Given the description of an element on the screen output the (x, y) to click on. 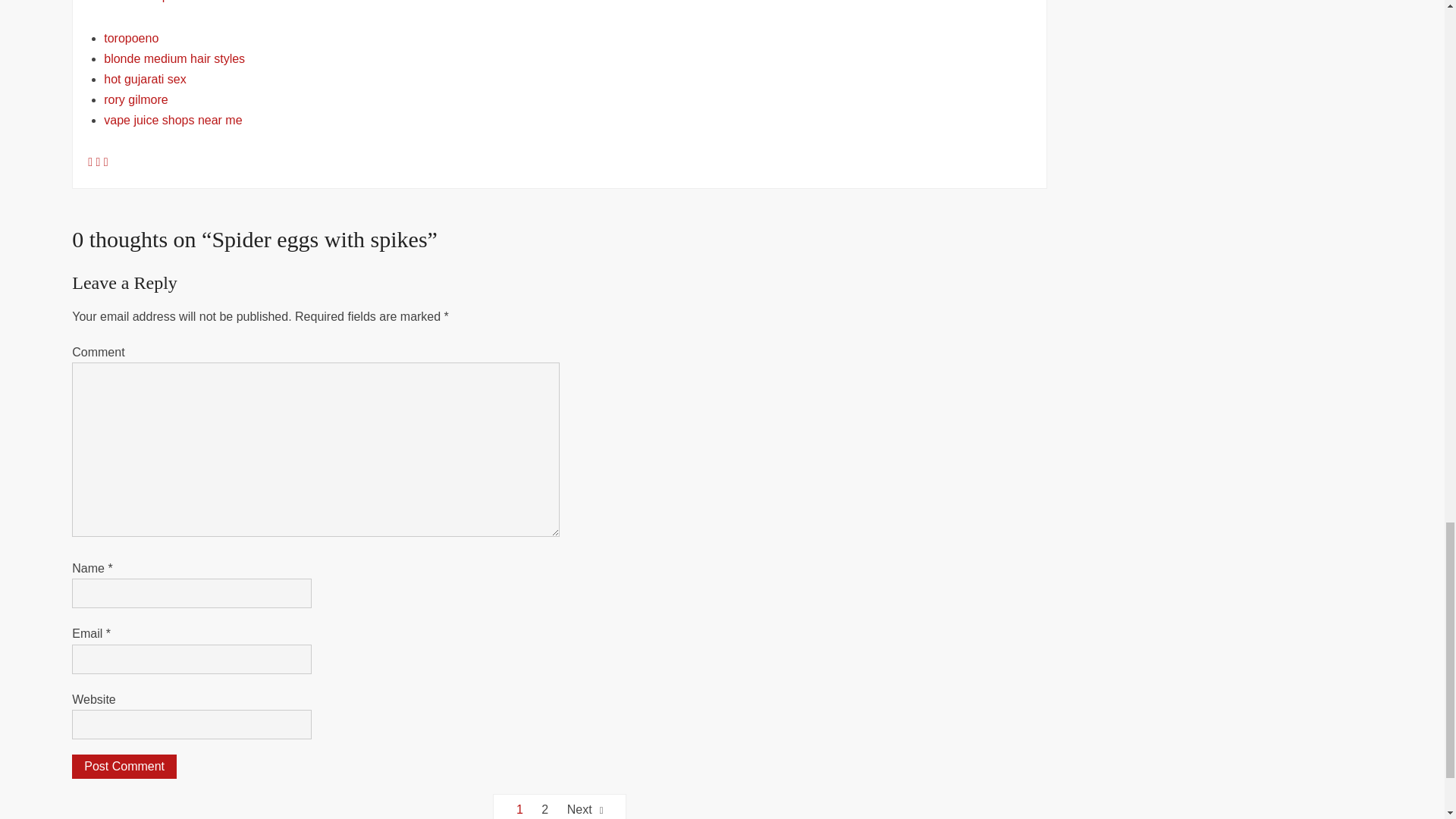
Next (585, 806)
blonde medium hair styles (173, 58)
toropoeno (130, 38)
rory gilmore (135, 99)
2 (545, 806)
vape juice shops near me (172, 119)
hot gujarati sex (144, 78)
Post Comment (123, 766)
Post Comment (123, 766)
caravan clip art (144, 1)
